Given the description of an element on the screen output the (x, y) to click on. 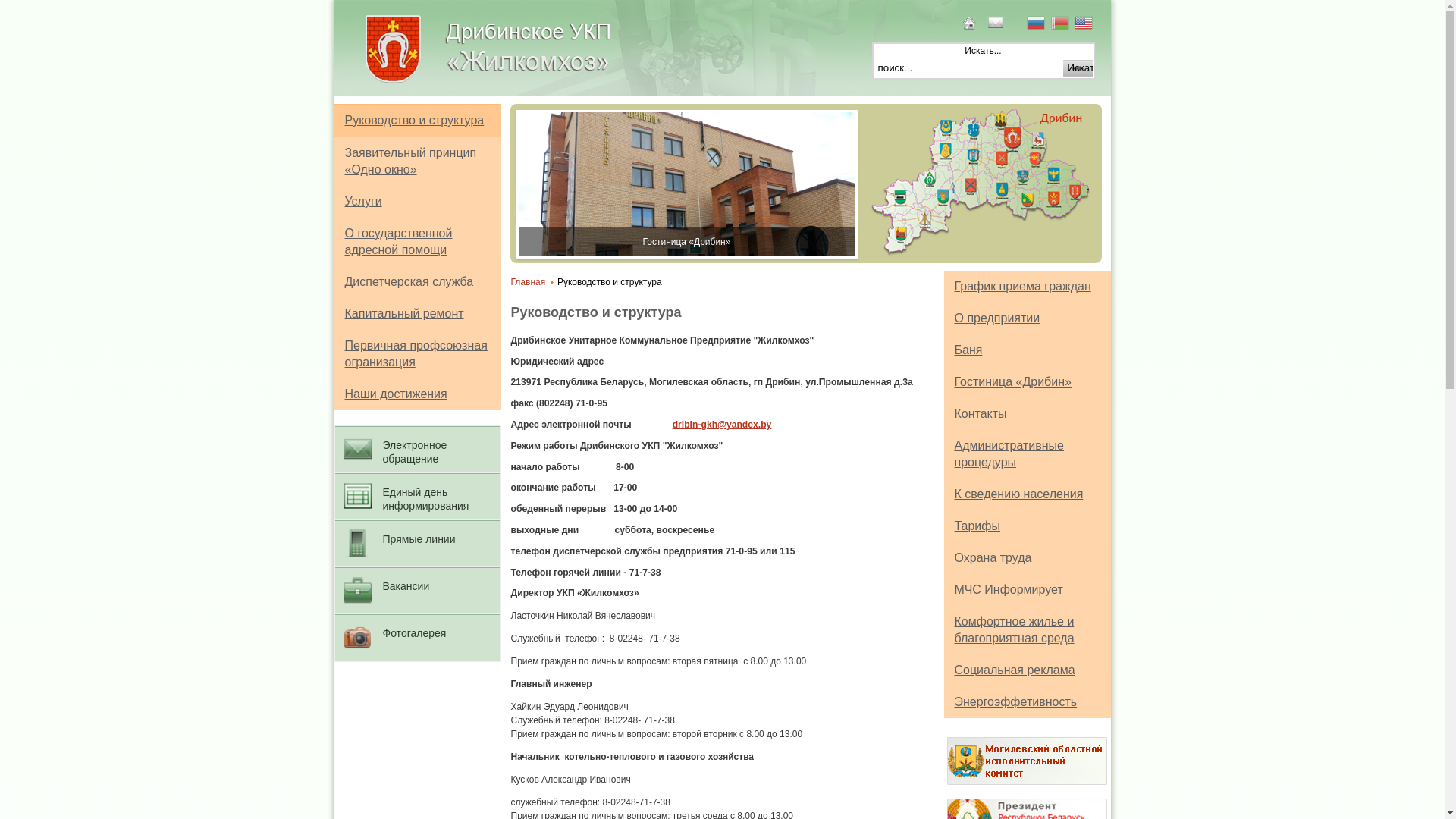
Russian Element type: hover (1037, 24)
Belarusian Element type: hover (1061, 24)
dribin-gkh@yandex.by Element type: text (721, 424)
English Element type: hover (1084, 24)
